Given the description of an element on the screen output the (x, y) to click on. 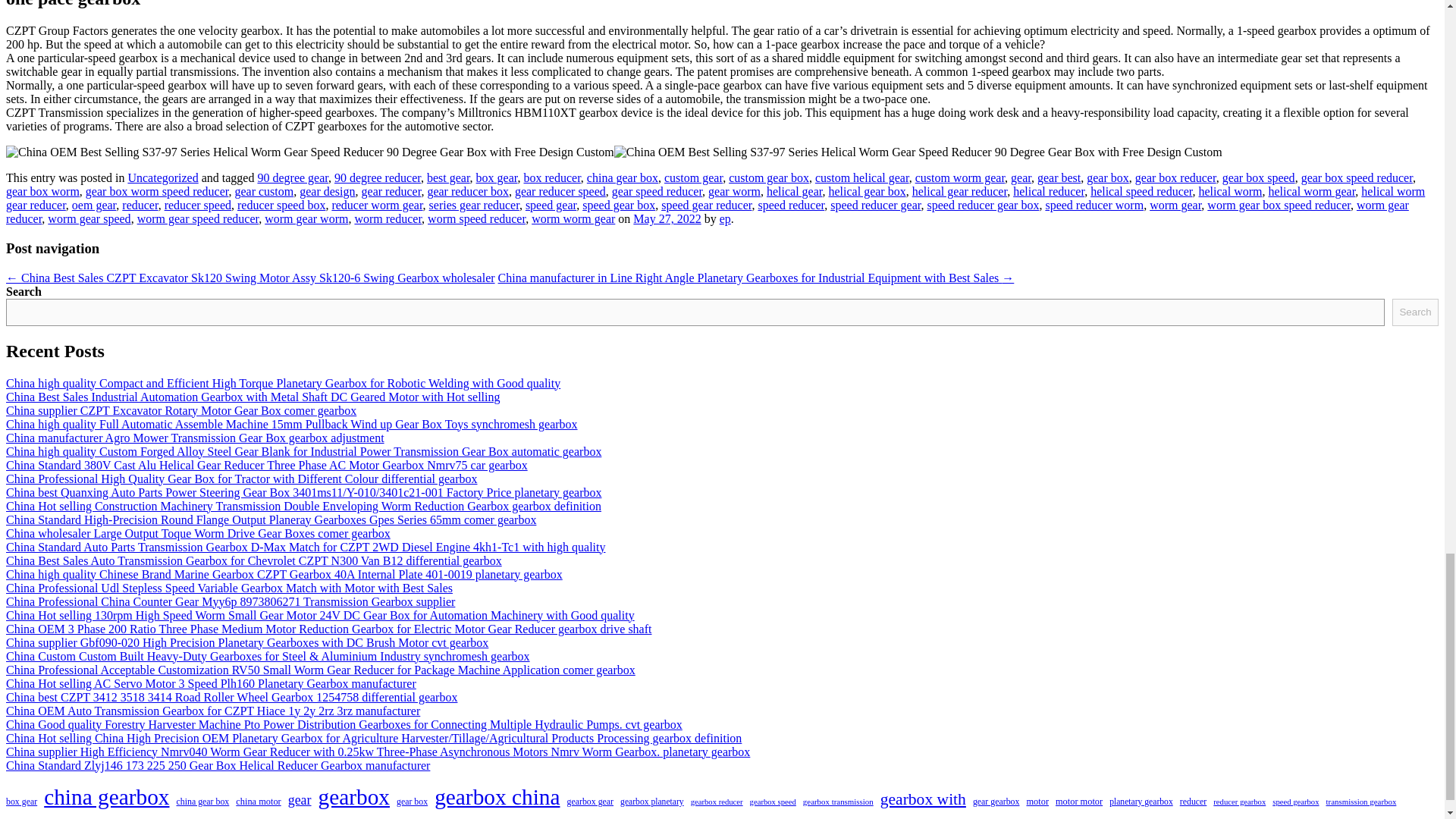
best gear (448, 177)
gear reducer speed (560, 191)
Uncategorized (163, 177)
90 degree gear (293, 177)
box gear (497, 177)
gear box worm (42, 191)
china gear box (622, 177)
gear custom (264, 191)
helical gear reducer (959, 191)
gear worm (733, 191)
custom gear box (769, 177)
custom worm gear (959, 177)
helical gear box (866, 191)
gear reducer box (467, 191)
gear box speed reducer (1356, 177)
